Given the description of an element on the screen output the (x, y) to click on. 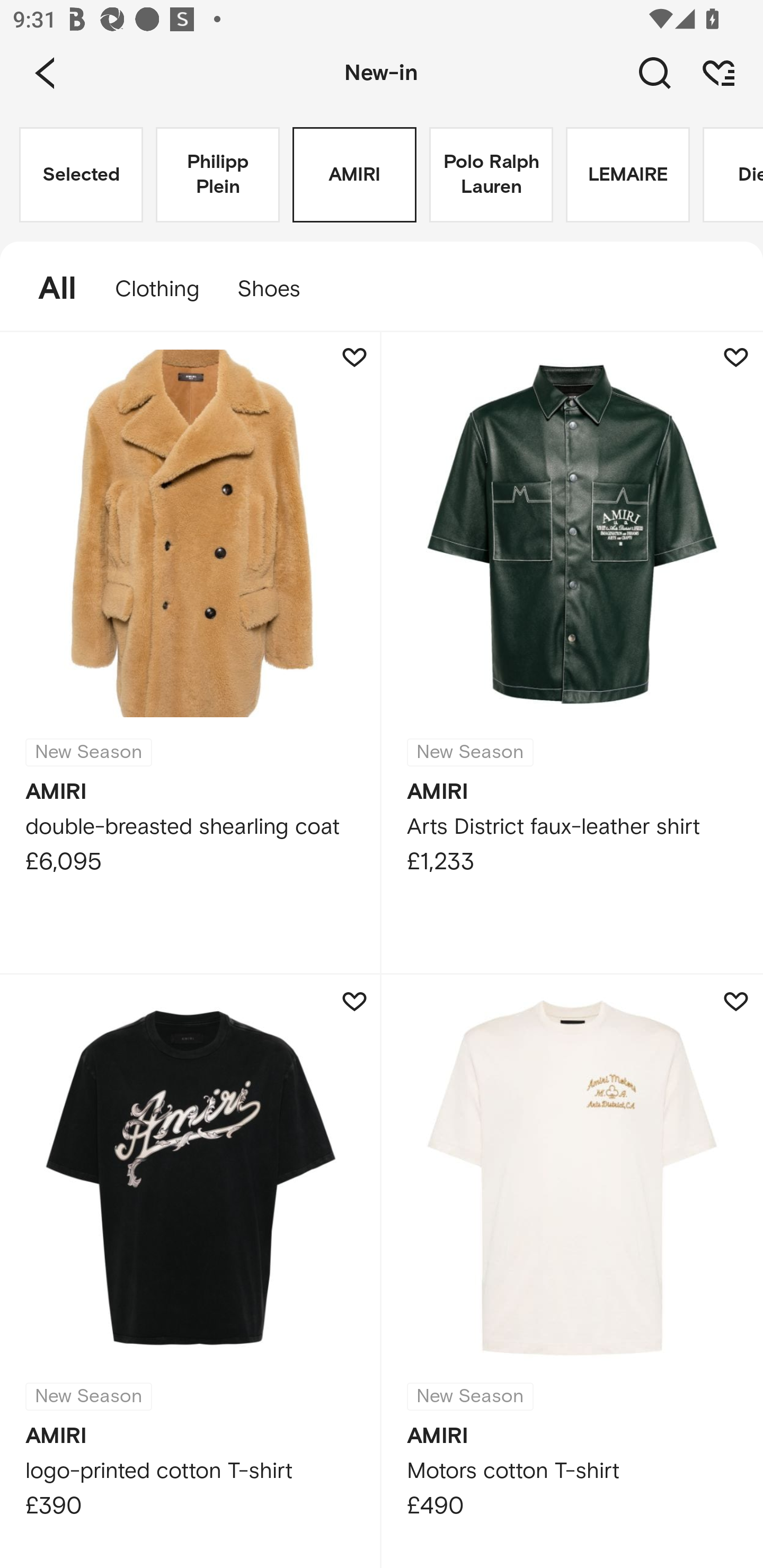
Selected (81, 174)
Philipp Plein (217, 174)
AMIRI (354, 174)
Polo Ralph Lauren (490, 174)
LEMAIRE (627, 174)
All (47, 288)
Clothing (156, 288)
Shoes (278, 288)
New Season AMIRI logo-printed cotton T-shirt £390 (190, 1271)
New Season AMIRI Motors cotton T-shirt £490 (572, 1271)
